Given the description of an element on the screen output the (x, y) to click on. 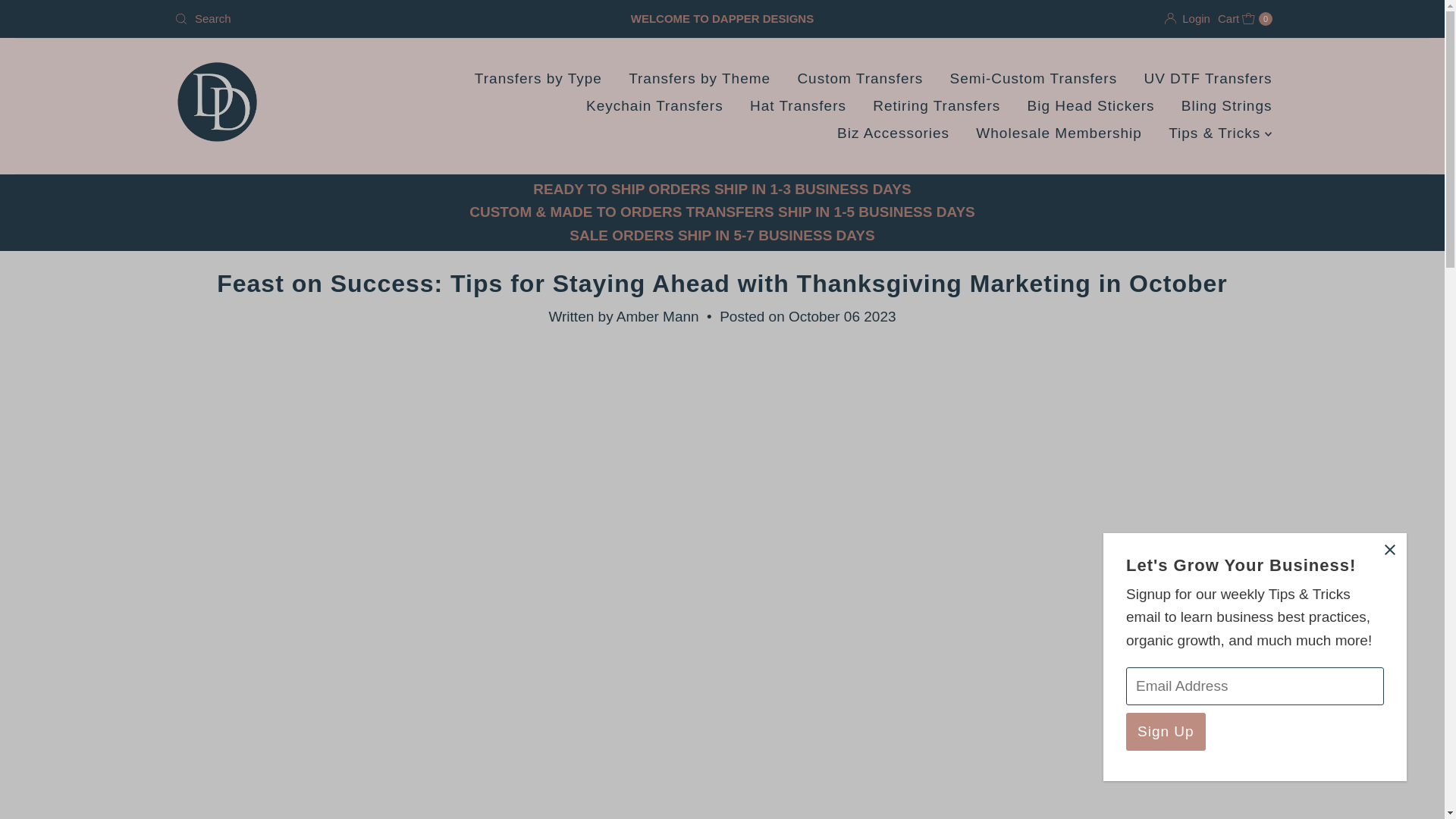
Bling Strings (1227, 105)
Keychain Transfers (655, 105)
Sign Up (1165, 731)
  Login (1186, 18)
Custom Transfers (860, 78)
Close popup (1389, 550)
UV DTF Transfers (1244, 18)
Transfers by Type (1207, 78)
Wholesale Membership (537, 78)
Transfers by Theme (1058, 133)
Semi-Custom Transfers (699, 78)
Retiring Transfers (1034, 78)
Biz Accessories (936, 105)
Search our store (892, 133)
